Given the description of an element on the screen output the (x, y) to click on. 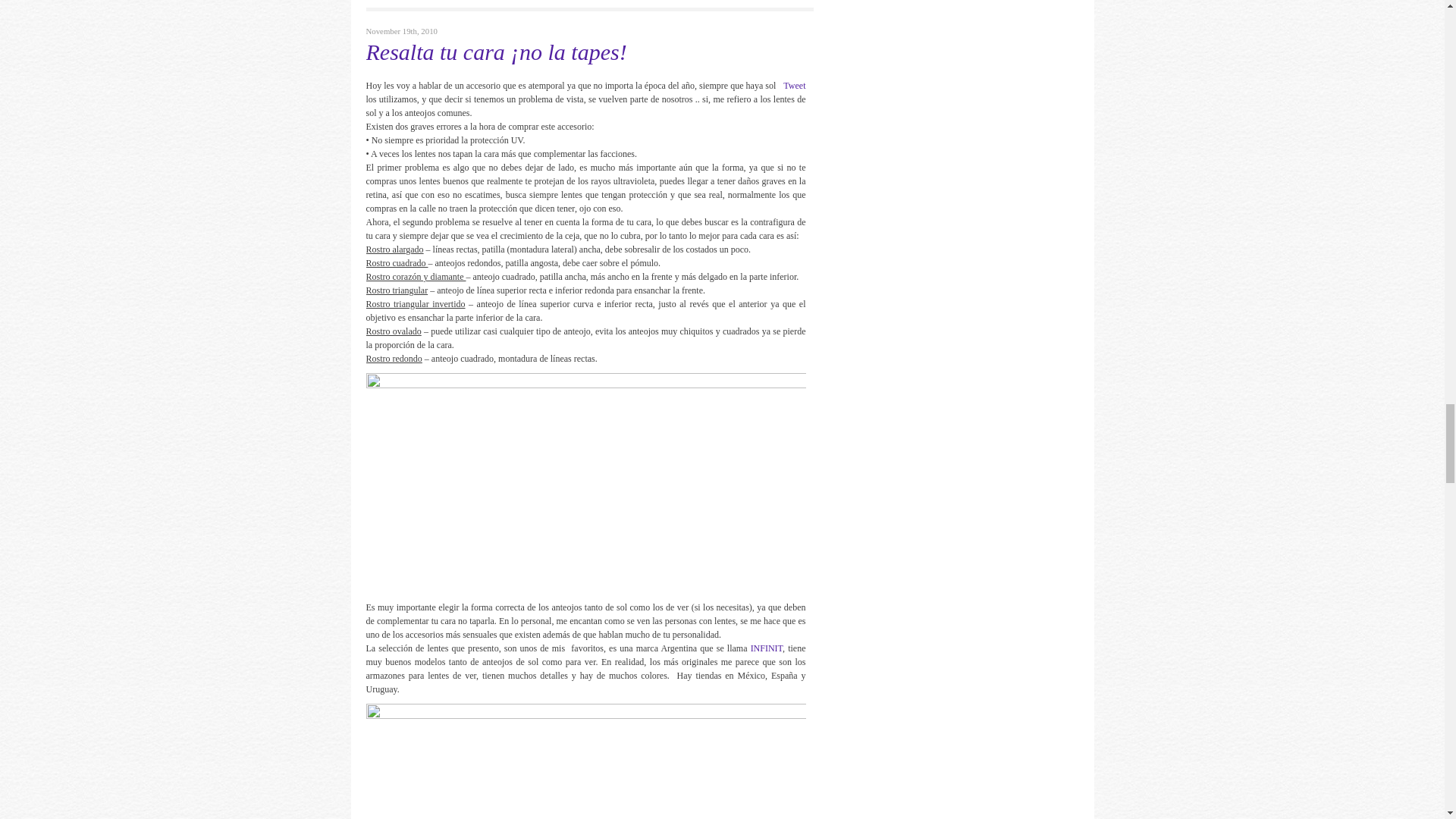
INFINIT (767, 647)
Tweet (794, 85)
Picture 75 (585, 482)
Picture 73 (585, 761)
